Given the description of an element on the screen output the (x, y) to click on. 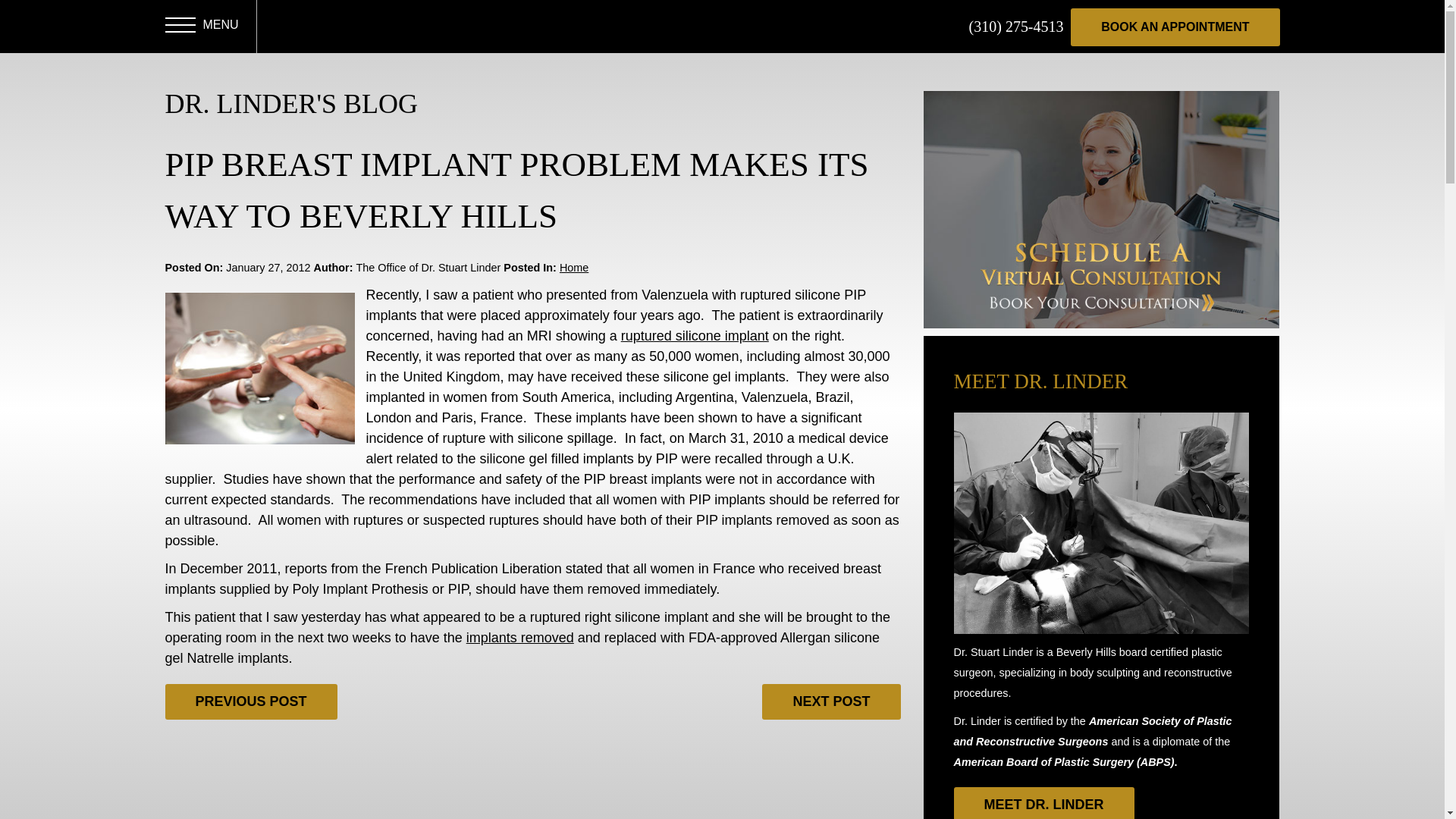
Dr. Linder (323, 26)
Open Menu (180, 27)
ruptured silicone implant (694, 335)
BOOK AN APPOINTMENT (1174, 26)
breast revision surgery (519, 637)
